Given the description of an element on the screen output the (x, y) to click on. 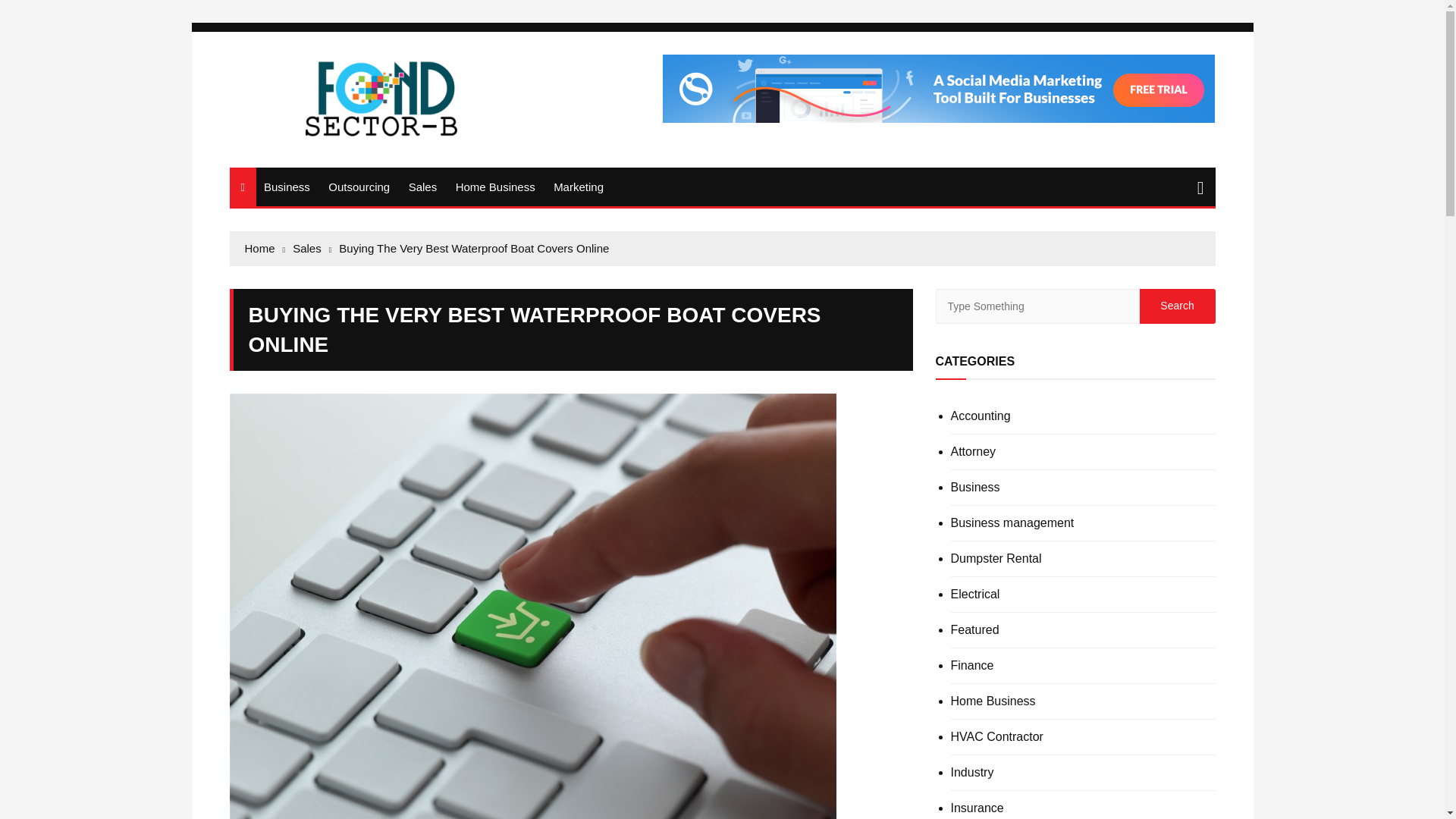
Industry (972, 772)
Search (1176, 306)
Business management (1012, 522)
Insurance (977, 808)
HVAC Contractor (996, 736)
Electrical (975, 594)
Sales (311, 248)
Featured (974, 630)
Buying The Very Best Waterproof Boat Covers Online (473, 248)
Finance (972, 665)
Home (264, 248)
Outsourcing (358, 186)
Accounting (980, 416)
Home Business (495, 186)
Business (975, 487)
